Given the description of an element on the screen output the (x, y) to click on. 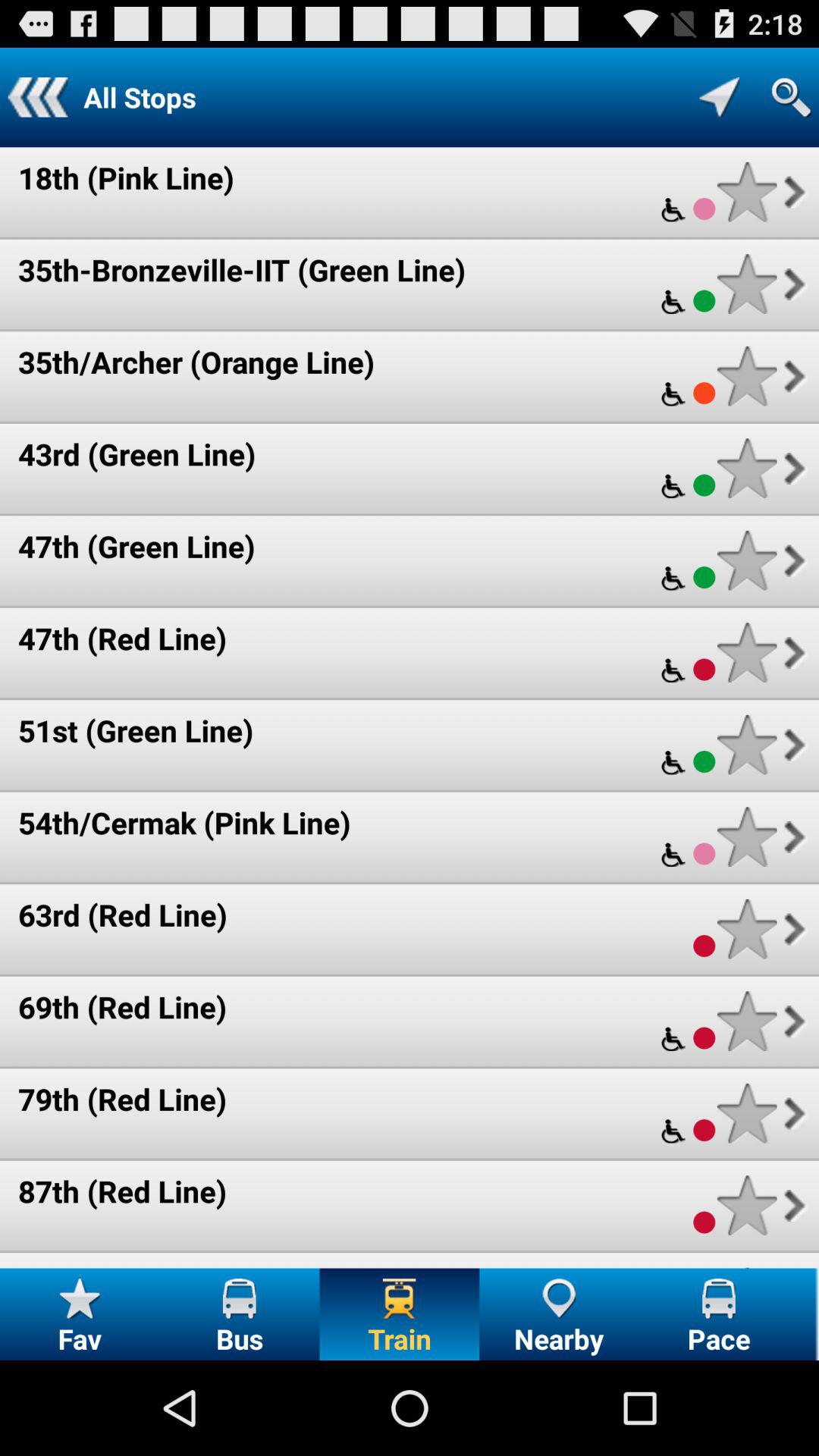
turn on app above 18th (pink line) icon (37, 97)
